Given the description of an element on the screen output the (x, y) to click on. 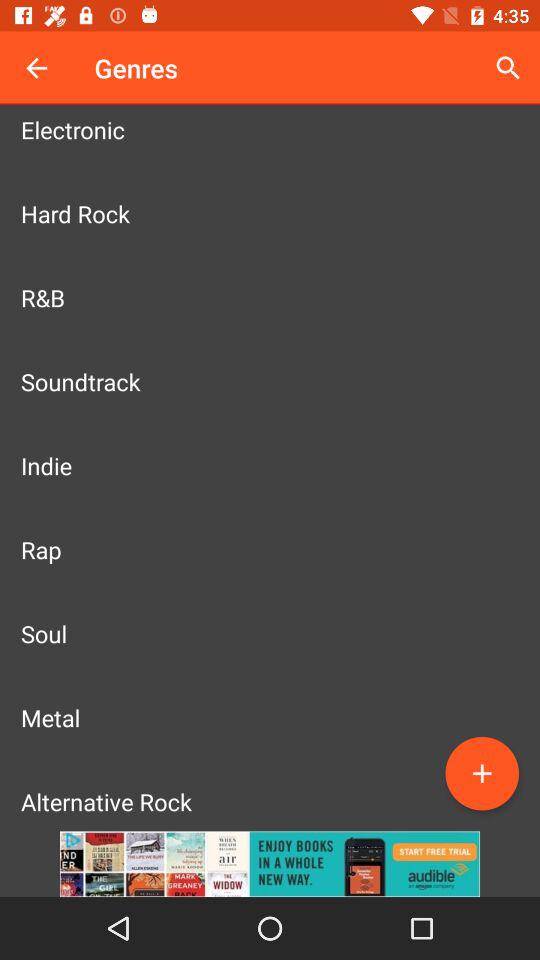
go back to the previous page (36, 68)
